Given the description of an element on the screen output the (x, y) to click on. 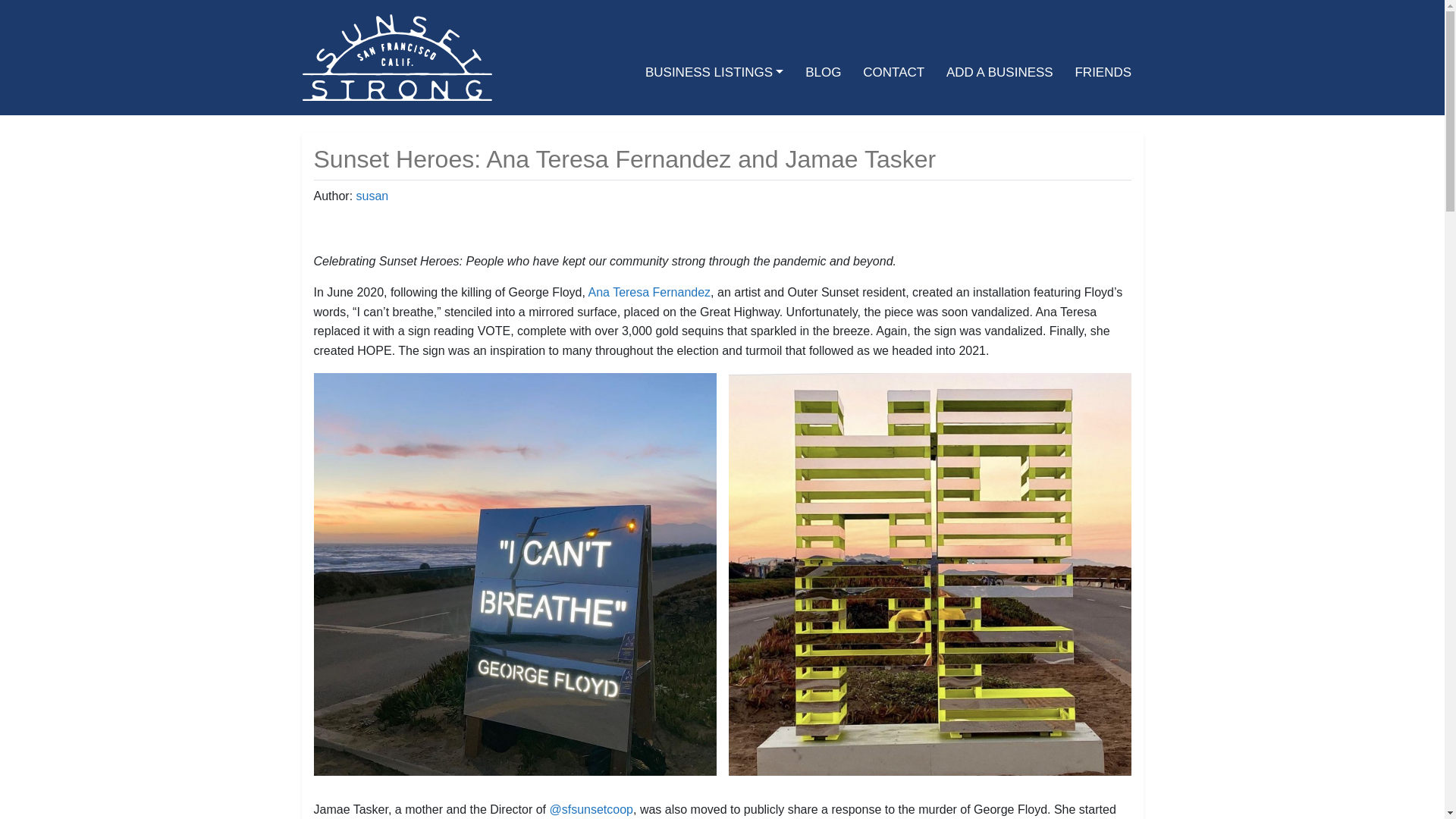
BUSINESS LISTINGS (714, 72)
CONTACT (893, 72)
FRIENDS (1102, 72)
BLOG (822, 72)
Sunset Strong (396, 55)
susan (372, 195)
ADD A BUSINESS (1000, 72)
Ana Teresa Fernandez (649, 291)
